Given the description of an element on the screen output the (x, y) to click on. 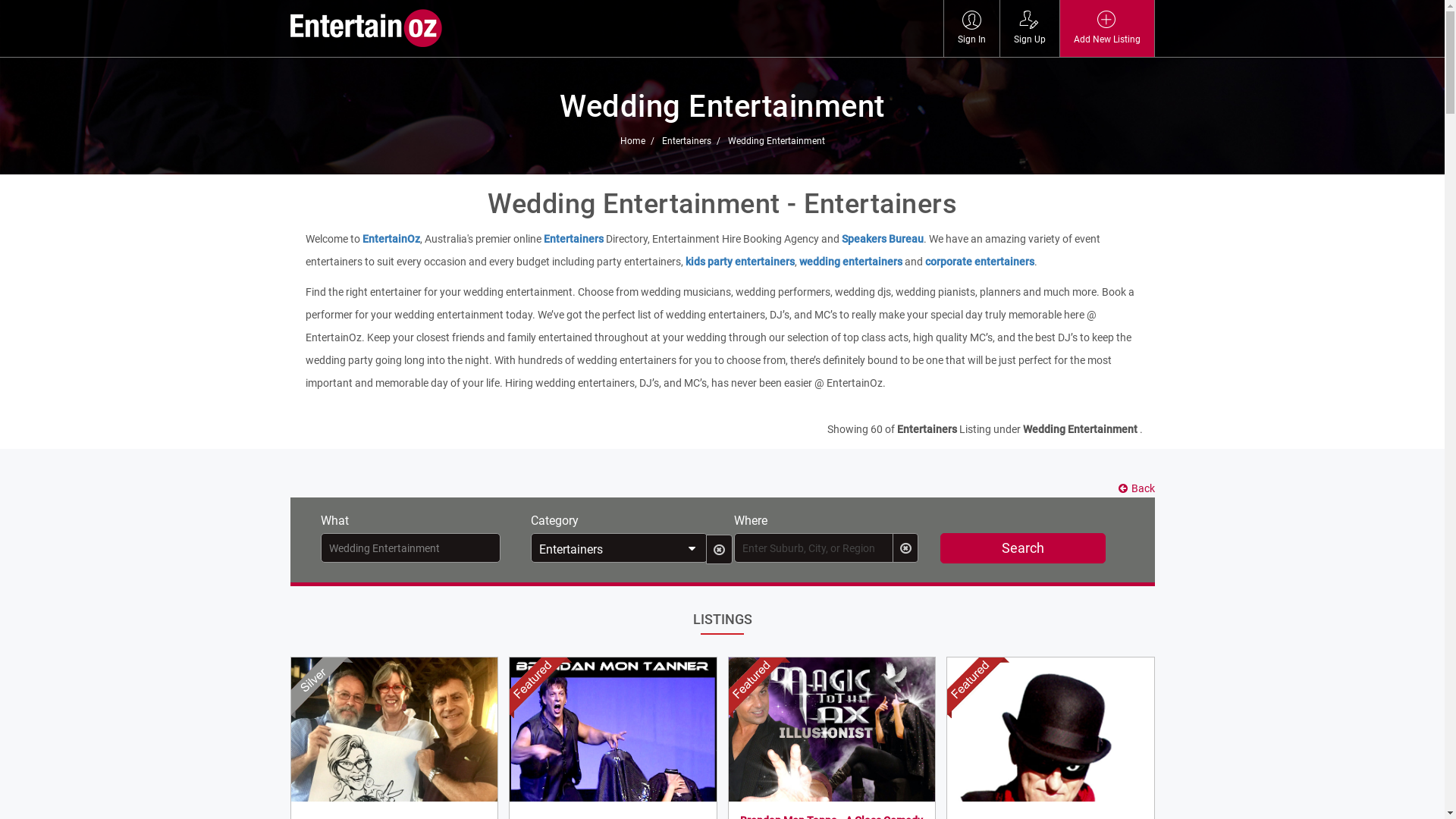
Entertainers Element type: text (692, 140)
EntertainOz Element type: text (391, 238)
Sign In Element type: text (971, 28)
wedding entertainers Element type: text (851, 261)
kids party entertainers Element type: text (739, 261)
Sign Up Element type: text (1028, 28)
corporate entertainers Element type: text (979, 261)
Speakers Bureau Element type: text (882, 238)
Entertainers Element type: text (618, 547)
Search Element type: text (1022, 548)
Back Element type: text (1134, 488)
Wedding Entertainment Element type: text (776, 140)
Home Element type: text (639, 140)
Entertainers Element type: text (572, 238)
Add New Listing Element type: text (1106, 28)
